Given the description of an element on the screen output the (x, y) to click on. 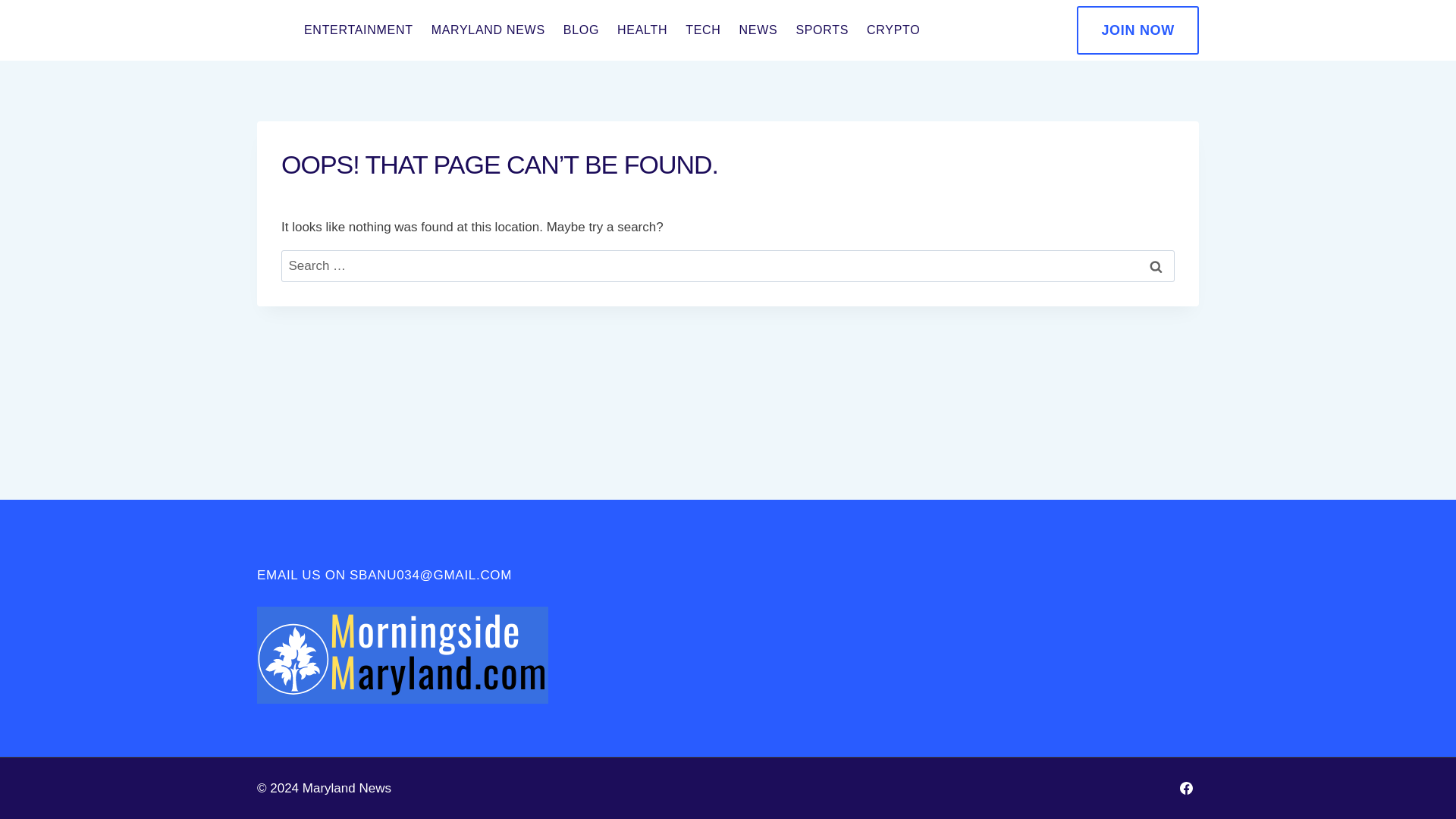
NEWS (758, 30)
ENTERTAINMENT (358, 30)
TECH (703, 30)
MARYLAND NEWS (488, 30)
BLOG (581, 30)
HEALTH (642, 30)
Search (1155, 266)
JOIN NOW (1137, 30)
Search (1155, 266)
Search (1155, 266)
SPORTS (821, 30)
CRYPTO (892, 30)
